Given the description of an element on the screen output the (x, y) to click on. 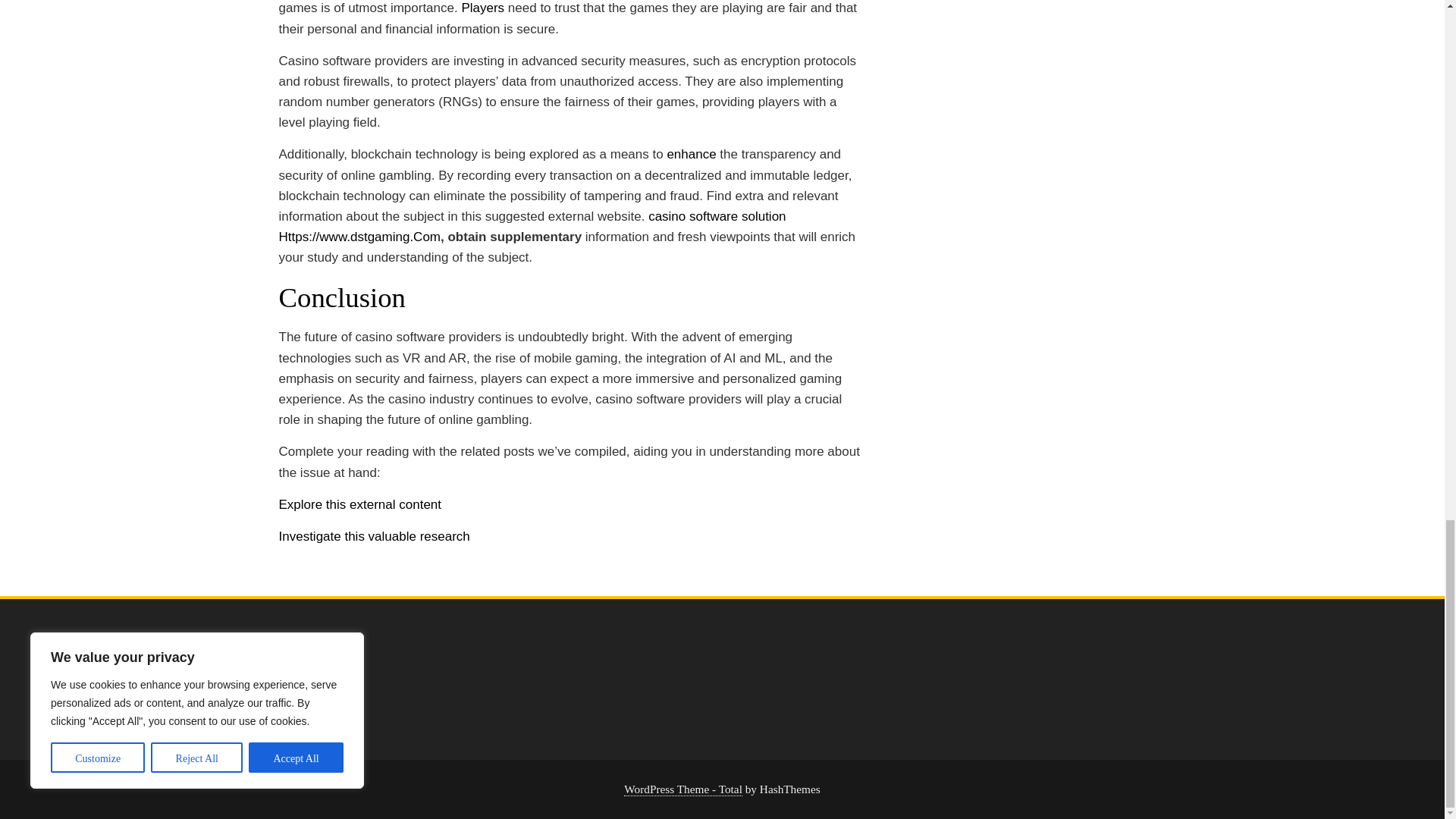
Explore this external content (360, 504)
Players (482, 7)
Investigate this valuable research (374, 536)
enhance (691, 154)
